Given the description of an element on the screen output the (x, y) to click on. 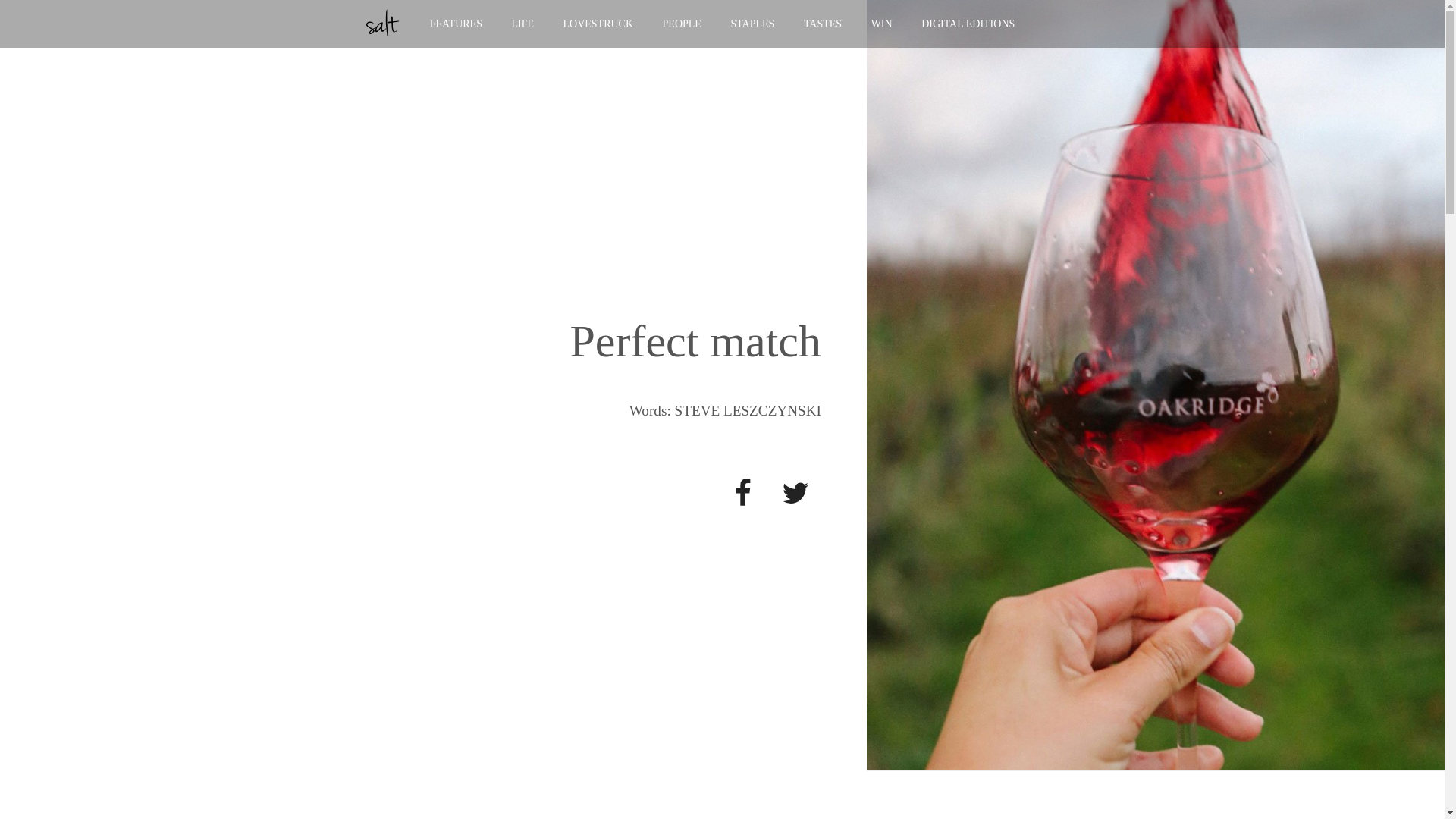
DIGITAL EDITIONS (967, 23)
TASTES (822, 23)
Share on Facebook (742, 493)
STAPLES (752, 23)
LIFE (522, 23)
PEOPLE (681, 23)
LOVESTRUCK (598, 23)
FEATURES (455, 23)
WIN (881, 23)
